Given the description of an element on the screen output the (x, y) to click on. 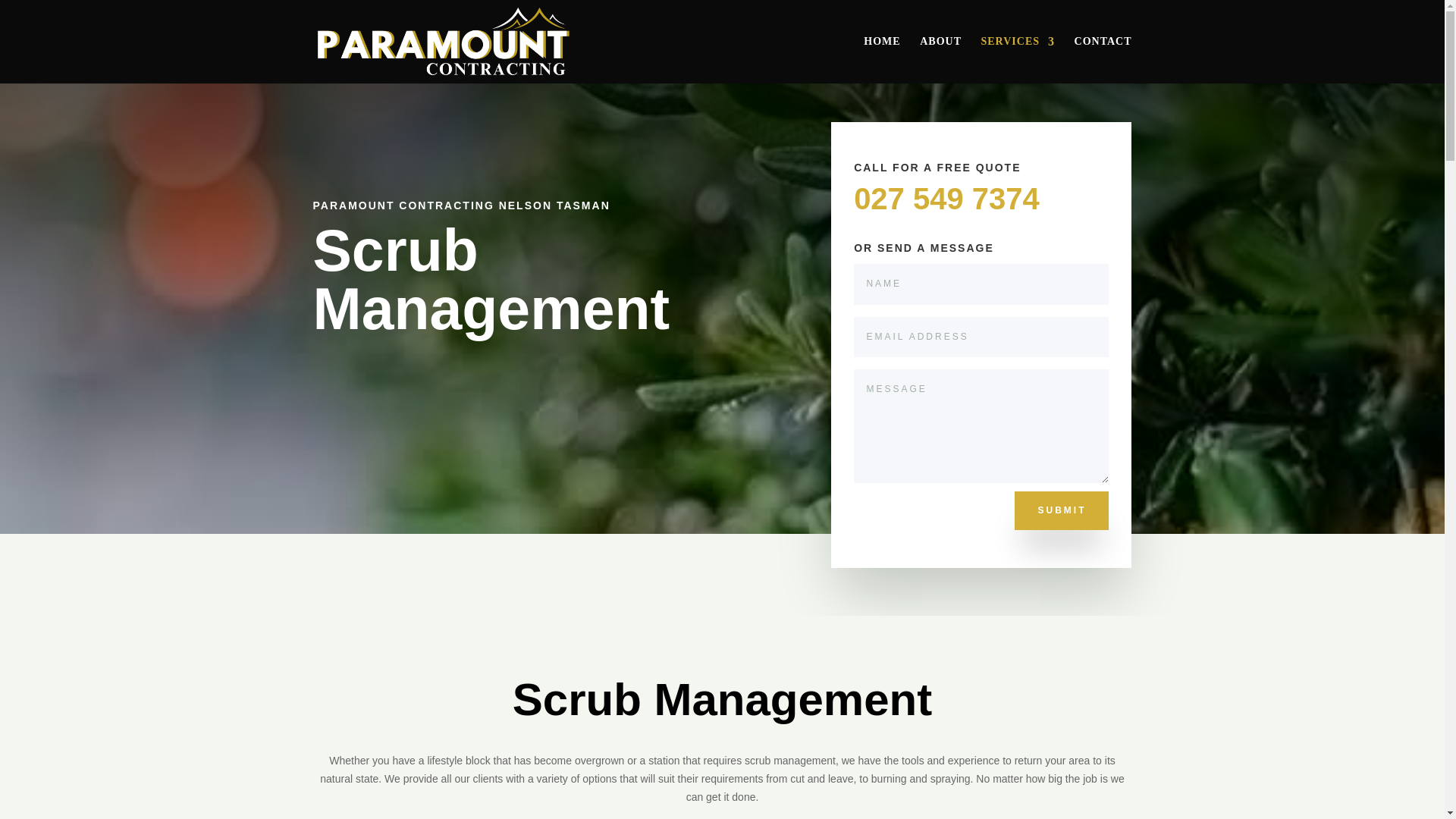
SERVICES (1016, 59)
SUBMIT (1061, 510)
CONTACT (1103, 59)
